Given the description of an element on the screen output the (x, y) to click on. 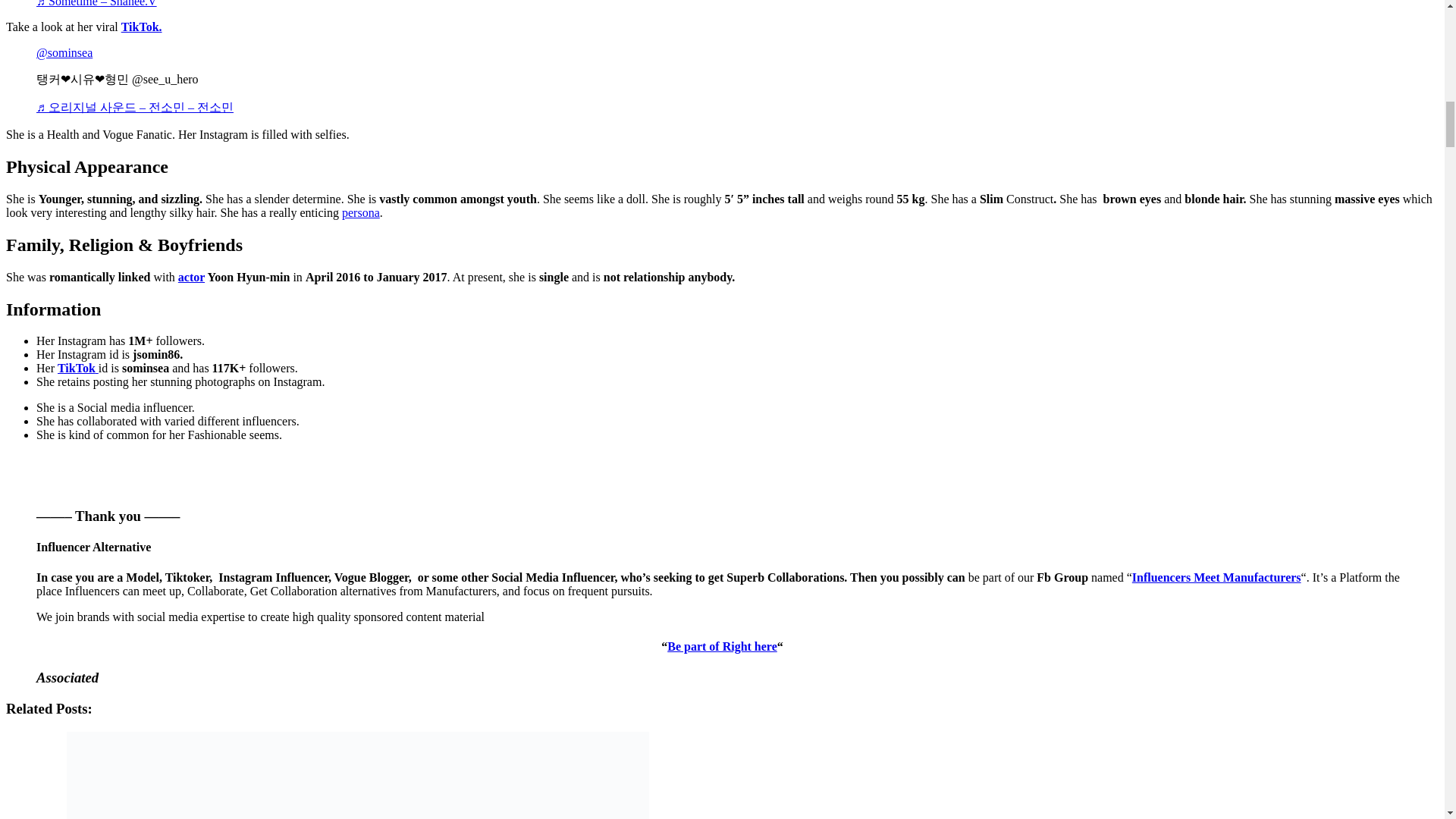
TikTok. (140, 26)
TikTok (78, 367)
Nina Dobrev Wiki, Age, Boyfriend, Net Worth, Facts and More (357, 775)
Sam Asghari wiki (191, 277)
Be part of Right here (721, 645)
actor (191, 277)
persona (361, 212)
Ester Kuntu Wiki (361, 212)
Influencers Meet Manufacturers (1216, 576)
